Given the description of an element on the screen output the (x, y) to click on. 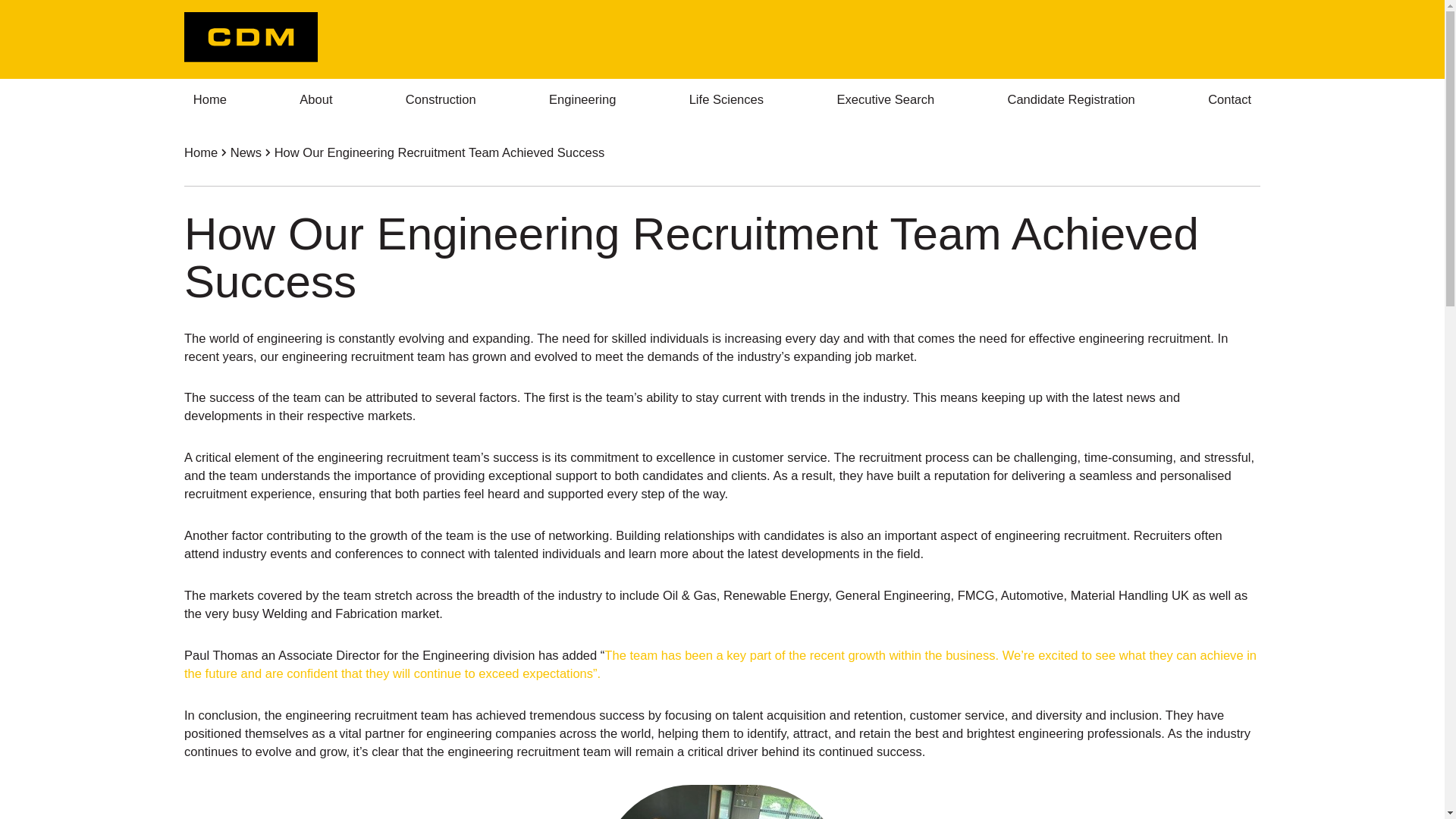
Executive Search (885, 100)
Construction (440, 100)
News (246, 152)
About (314, 100)
Candidate Registration (1071, 100)
Engineering (582, 100)
Contact (1229, 100)
Home (200, 152)
Home (209, 100)
Life Sciences (726, 100)
